Given the description of an element on the screen output the (x, y) to click on. 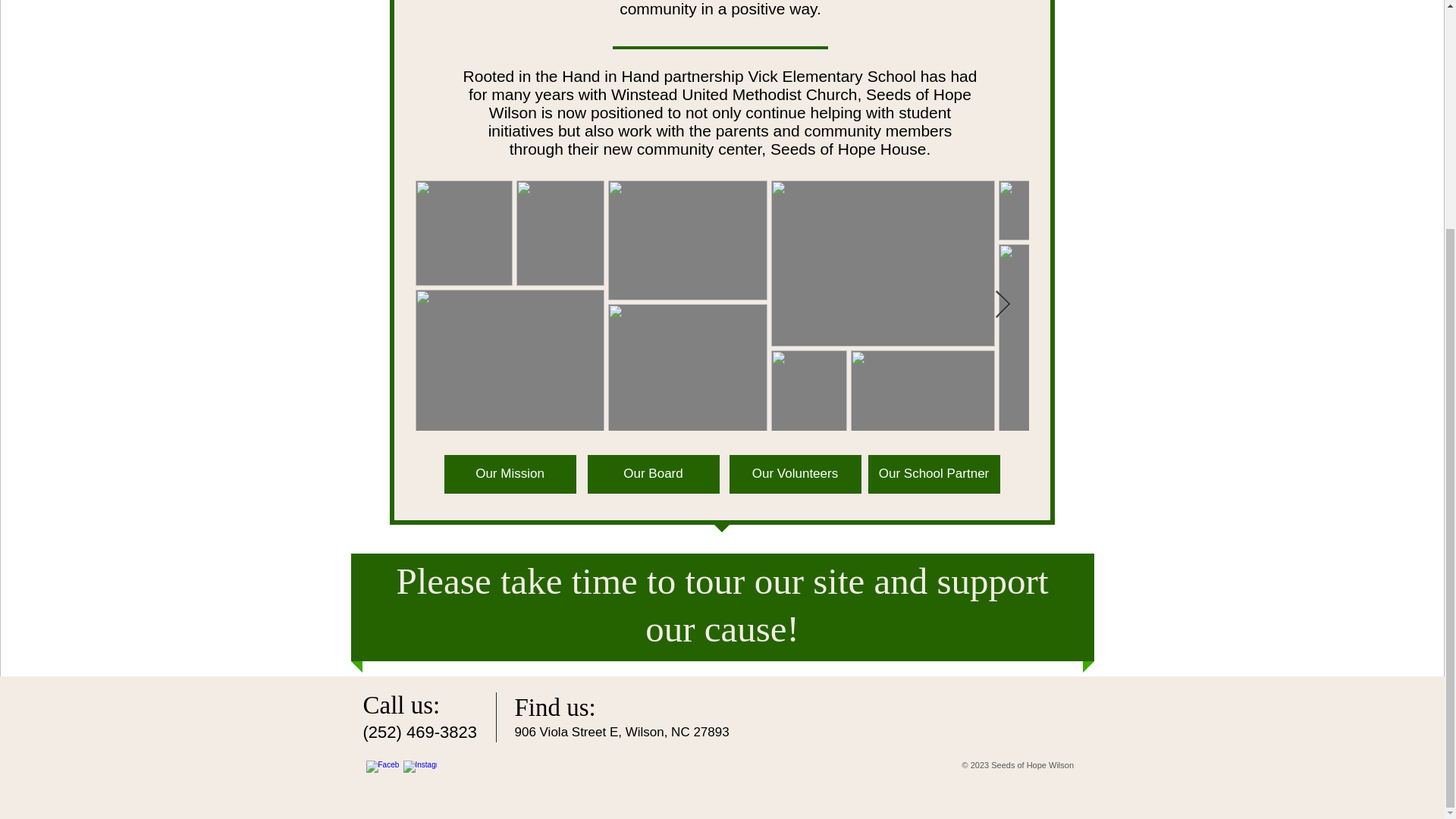
Our School Partner (932, 474)
Our Mission (510, 474)
Our Board (652, 474)
Our Volunteers (795, 474)
